Given the description of an element on the screen output the (x, y) to click on. 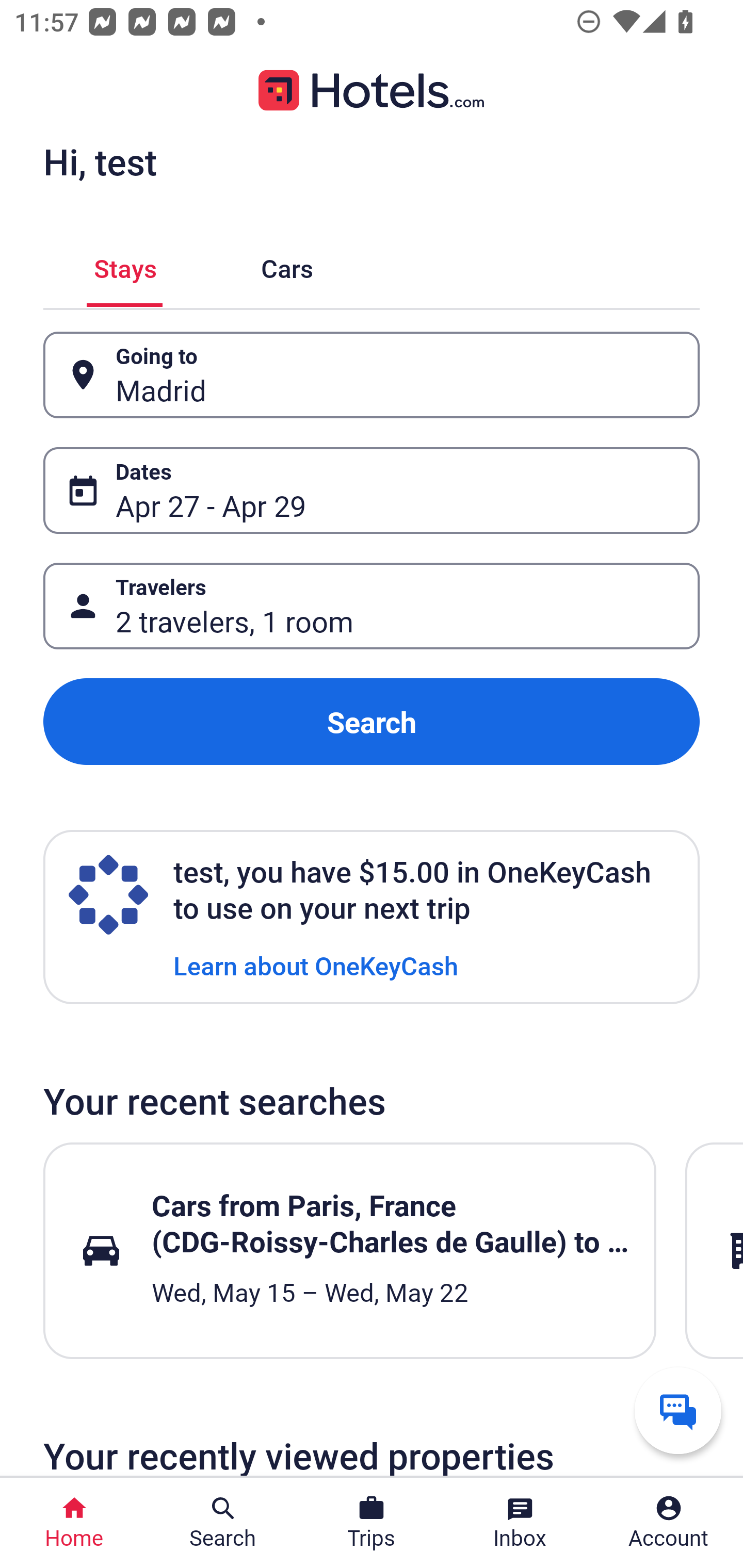
Hi, test (99, 161)
Cars (286, 265)
Going to Button Madrid (371, 375)
Dates Button Apr 27 - Apr 29 (371, 489)
Travelers Button 2 travelers, 1 room (371, 605)
Search (371, 721)
Learn about OneKeyCash Learn about OneKeyCash Link (315, 964)
Get help from a virtual agent (677, 1410)
Search Search Button (222, 1522)
Trips Trips Button (371, 1522)
Inbox Inbox Button (519, 1522)
Account Profile. Button (668, 1522)
